Given the description of an element on the screen output the (x, y) to click on. 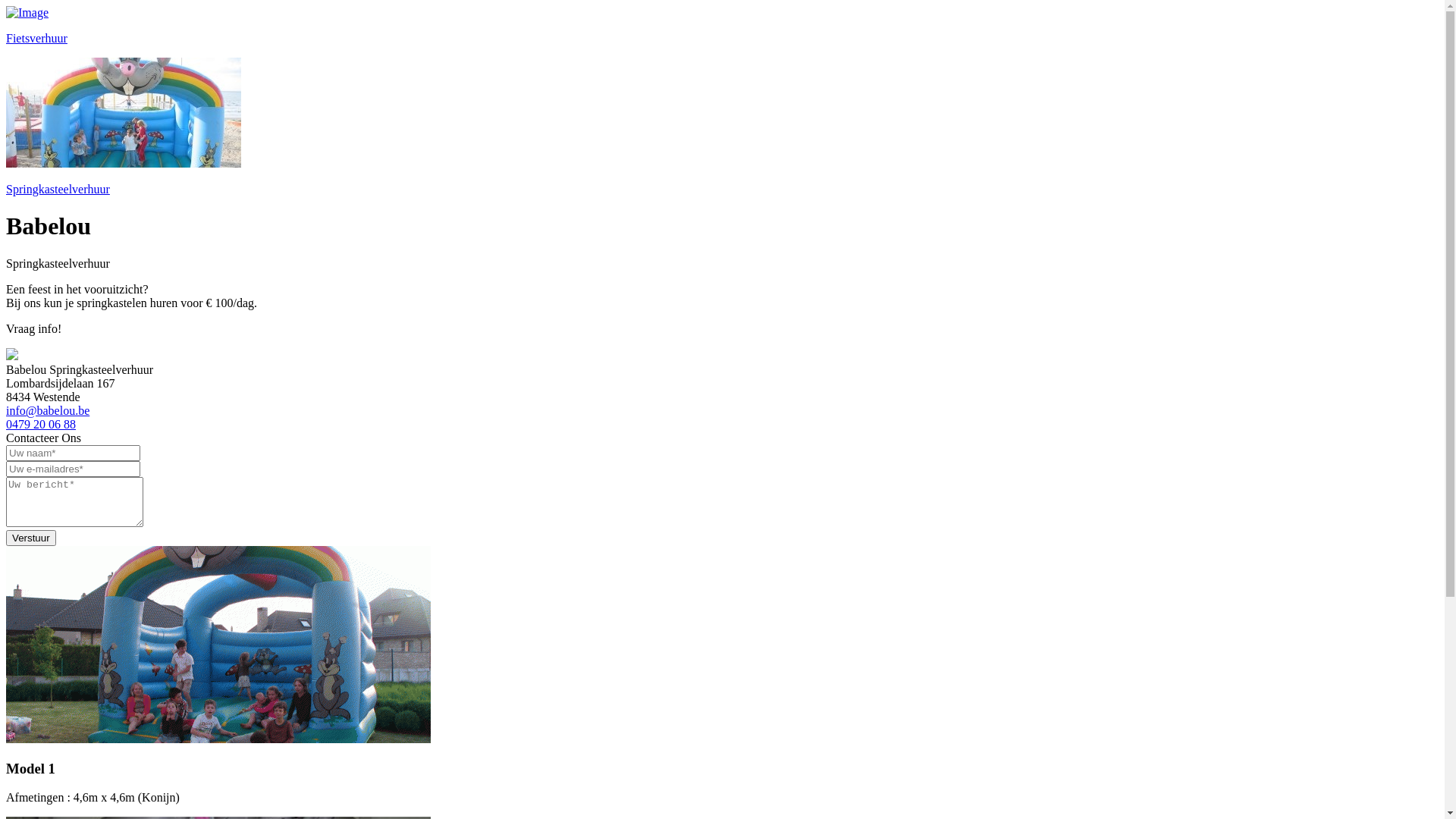
0479 20 06 88 Element type: text (40, 422)
info@babelou.be Element type: text (47, 408)
Verstuur Element type: text (31, 536)
Springkasteelverhuur Element type: text (722, 126)
Fietsverhuur Element type: text (722, 25)
